Given the description of an element on the screen output the (x, y) to click on. 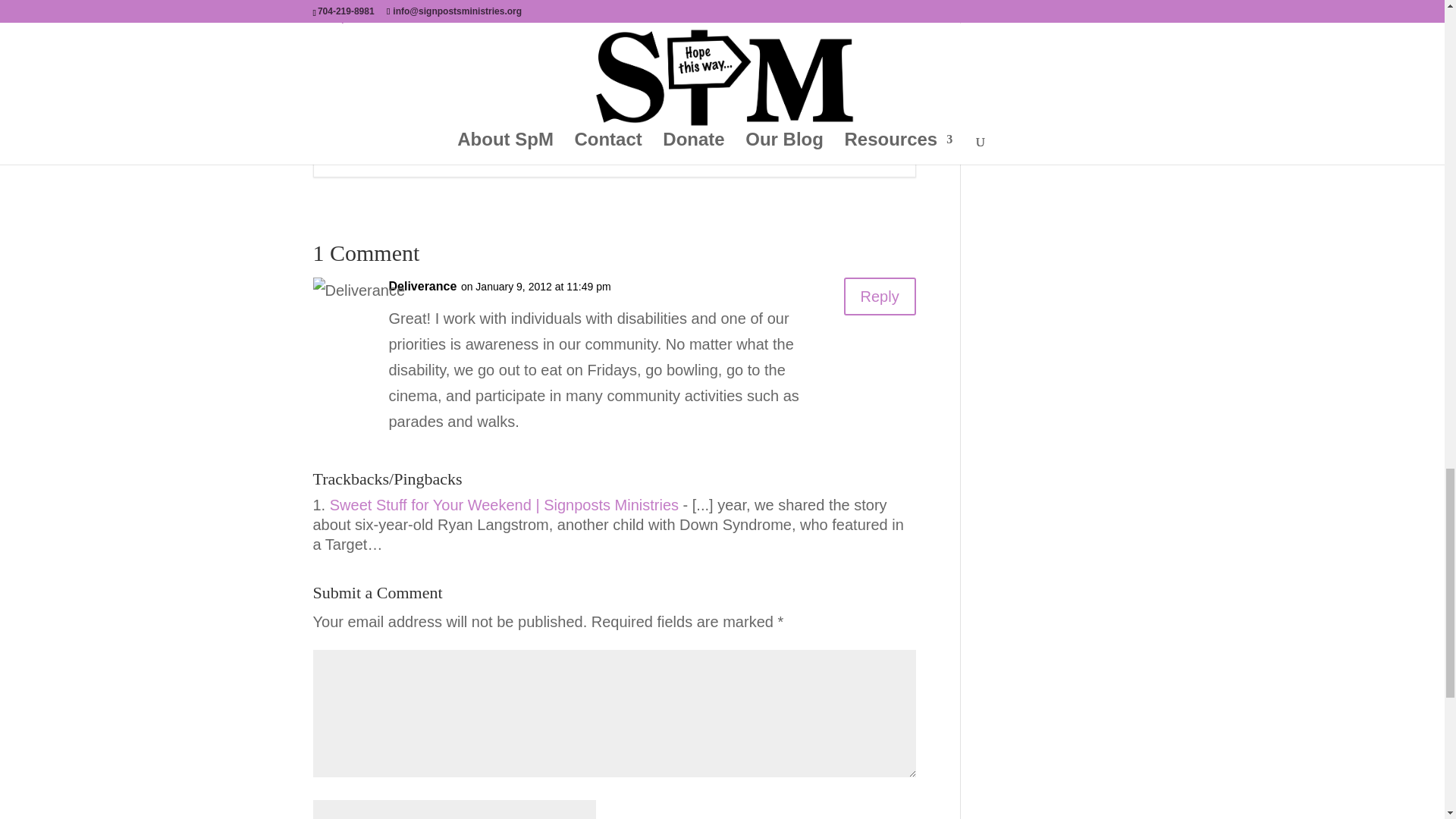
www.carolinecollie.com (678, 148)
the Daily Mail (597, 12)
Reply (879, 296)
